Given the description of an element on the screen output the (x, y) to click on. 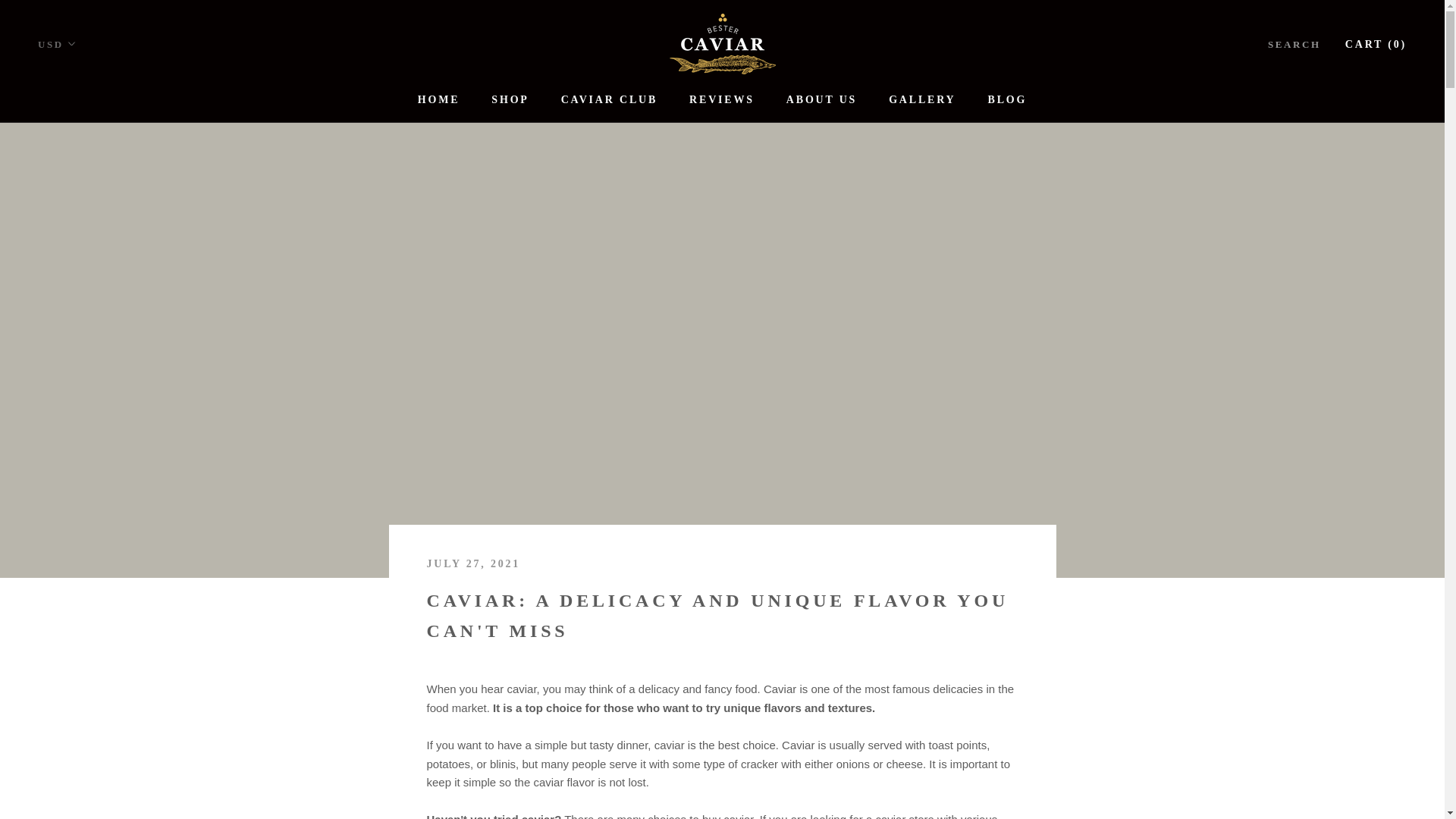
SEARCH (438, 99)
Currency selector (1007, 99)
